Given the description of an element on the screen output the (x, y) to click on. 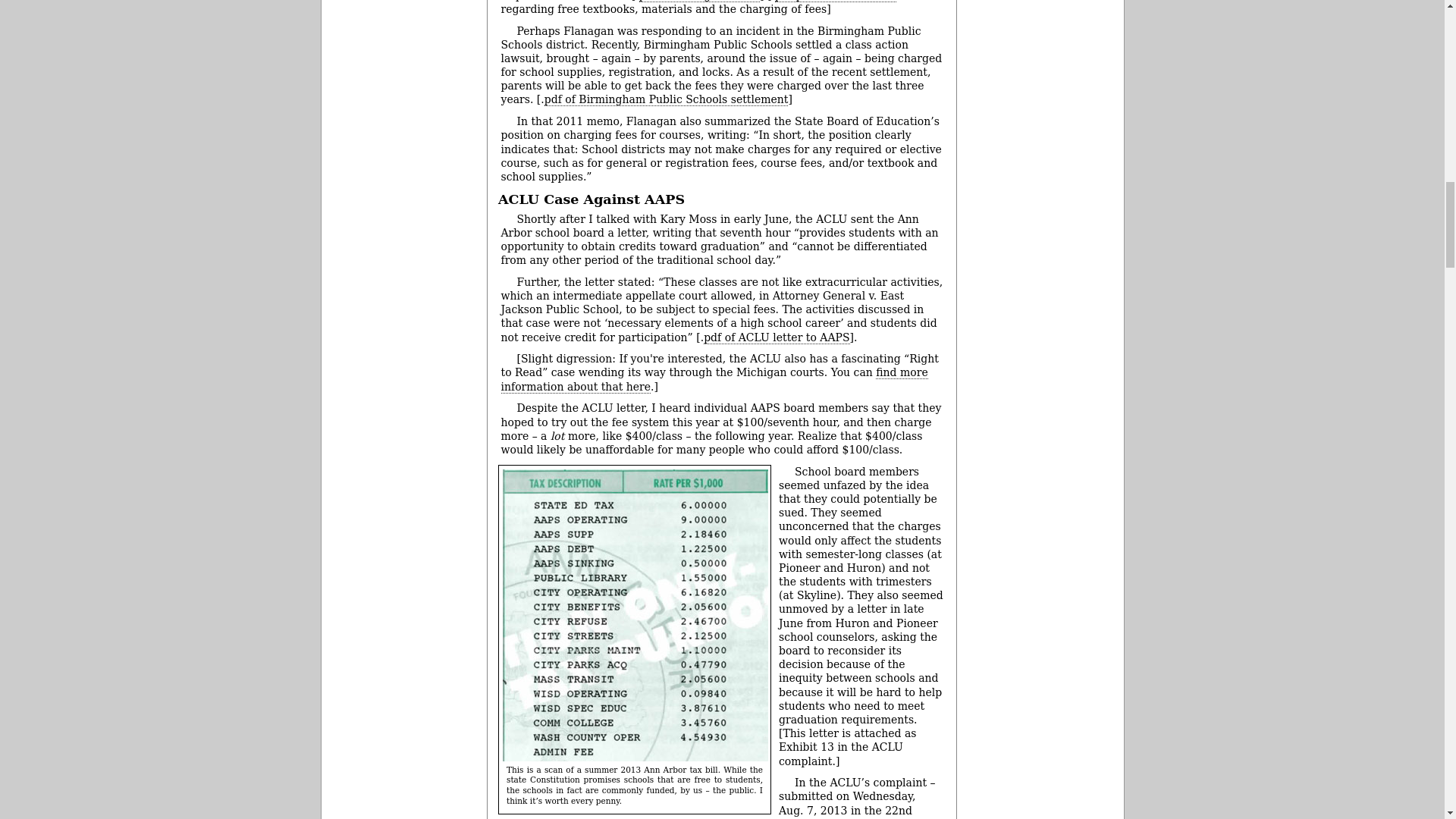
pdf of Birmingham Public Schools settlement (666, 99)
Scan of a summer 2013 tax bill.  (635, 615)
pdf of Flanagan memo (699, 1)
